Given the description of an element on the screen output the (x, y) to click on. 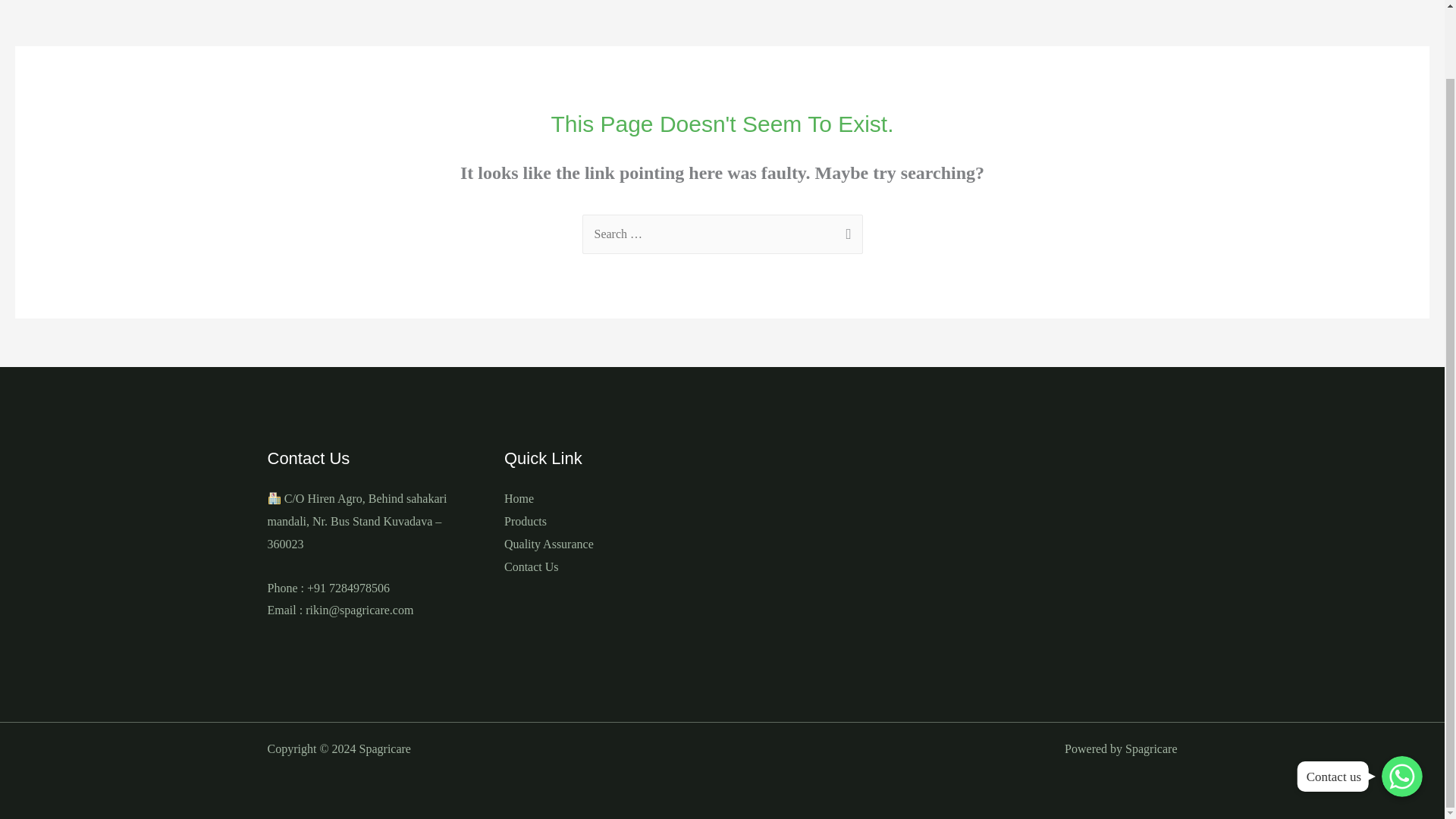
Quality Assurance (548, 543)
WhatsApp (1401, 700)
Contact Us (531, 566)
Products (525, 521)
Home (518, 498)
